Given the description of an element on the screen output the (x, y) to click on. 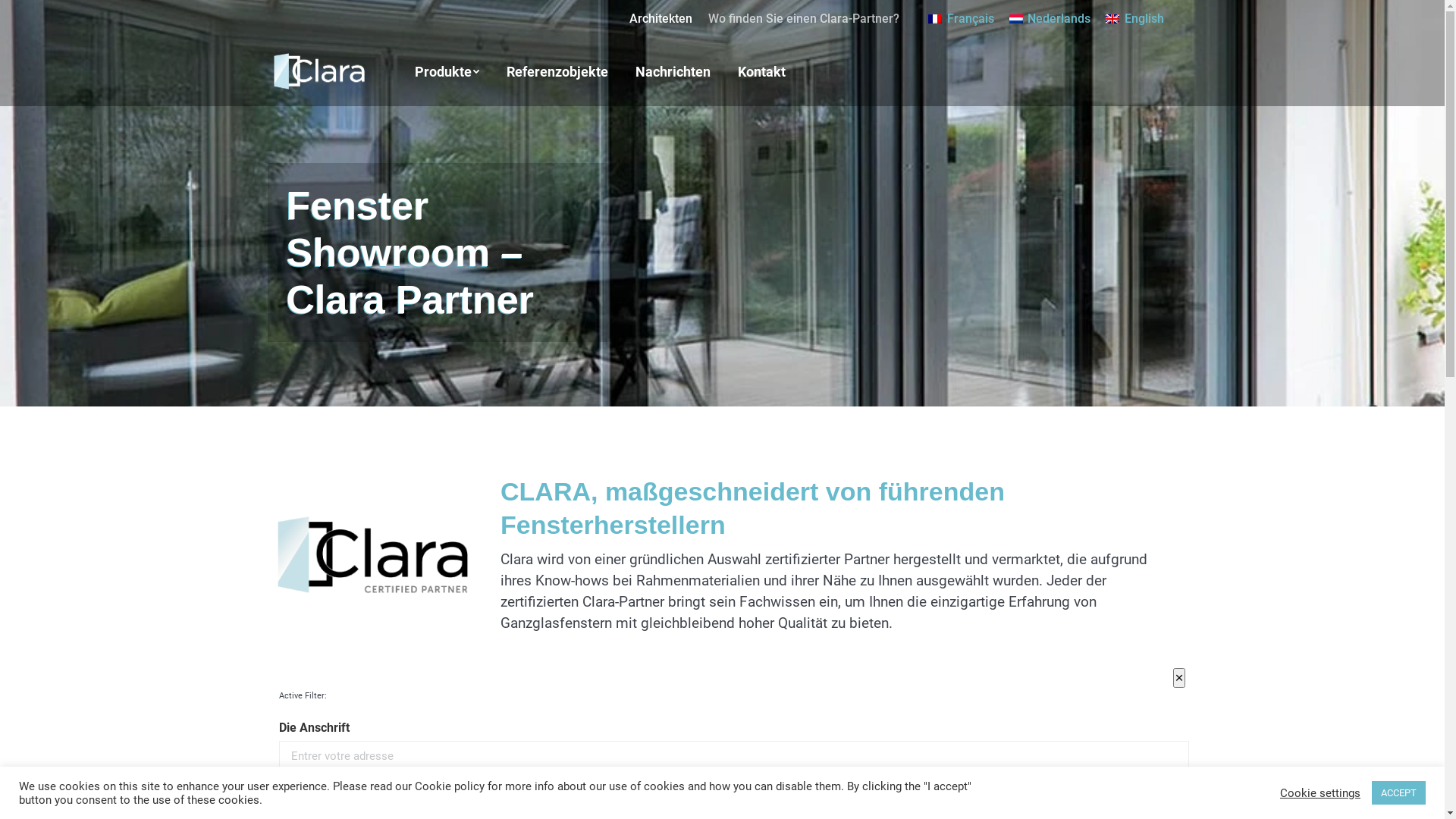
Kontakt Element type: text (760, 71)
Wo finden Sie einen Clara-Partner? Element type: text (803, 18)
Nachrichten Element type: text (672, 71)
Architekten Element type: text (660, 18)
ACCEPT Element type: text (1398, 792)
Alle Partner anzeigen Element type: text (581, 782)
Produkte Element type: text (446, 71)
Reset all filters Element type: text (316, 782)
Holen Sie sich meinen Standort Element type: text (443, 782)
English Element type: text (1134, 18)
Nederlands Element type: text (1049, 18)
Cookie settings Element type: text (1320, 792)
Referenzobjekte Element type: text (557, 71)
